Given the description of an element on the screen output the (x, y) to click on. 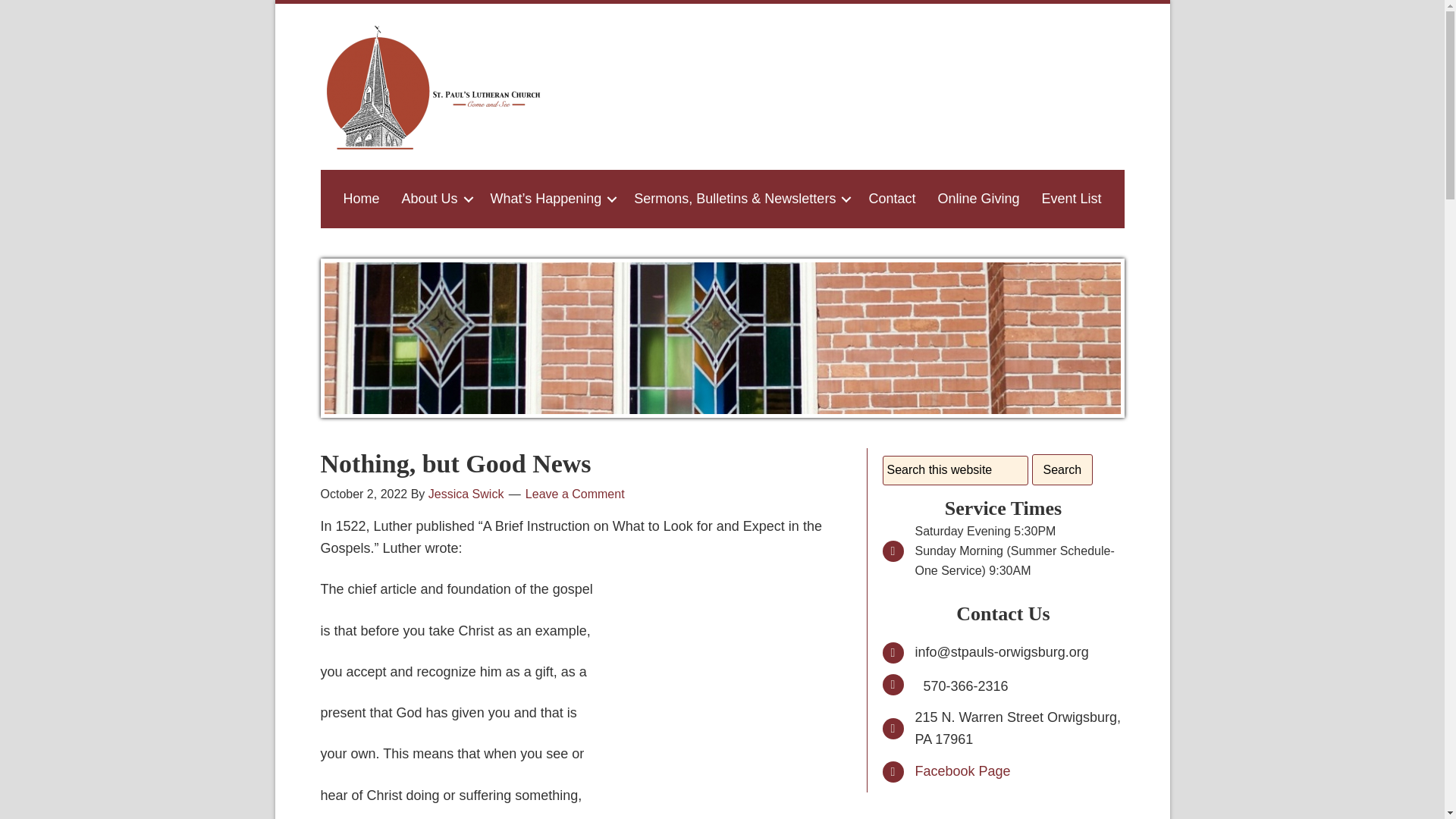
Jessica Swick (465, 493)
Online Giving (977, 198)
About Us (434, 198)
Search (1061, 469)
Contact (891, 198)
Event List (1071, 198)
Home (360, 198)
Facebook Page (962, 770)
Leave a Comment (574, 493)
Search (1061, 469)
stpaulslogo (433, 86)
Search (1061, 469)
